Given the description of an element on the screen output the (x, y) to click on. 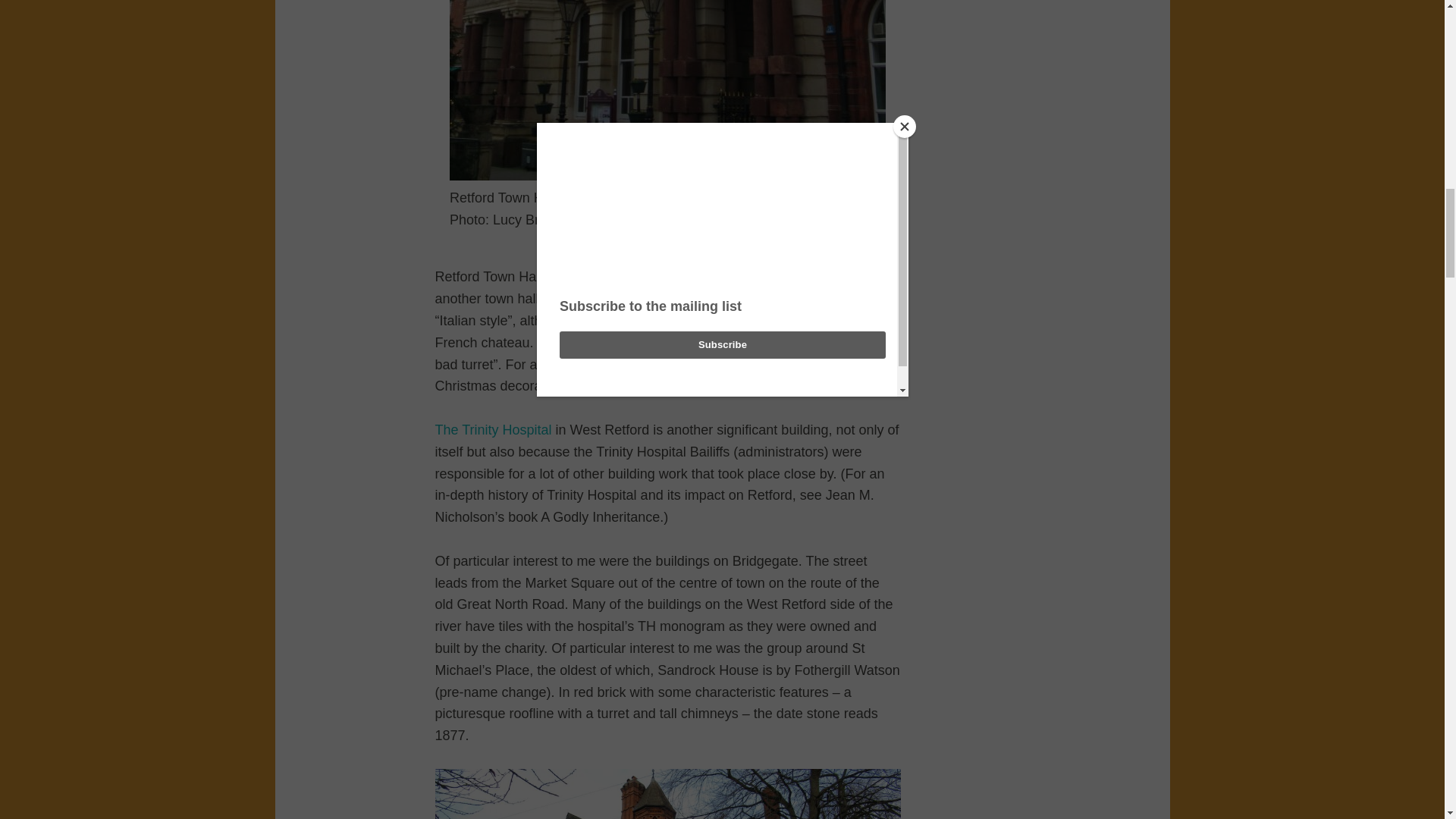
The Trinity Hospital (495, 429)
Bellamy and Hardy (687, 276)
Ipswich (673, 298)
